Given the description of an element on the screen output the (x, y) to click on. 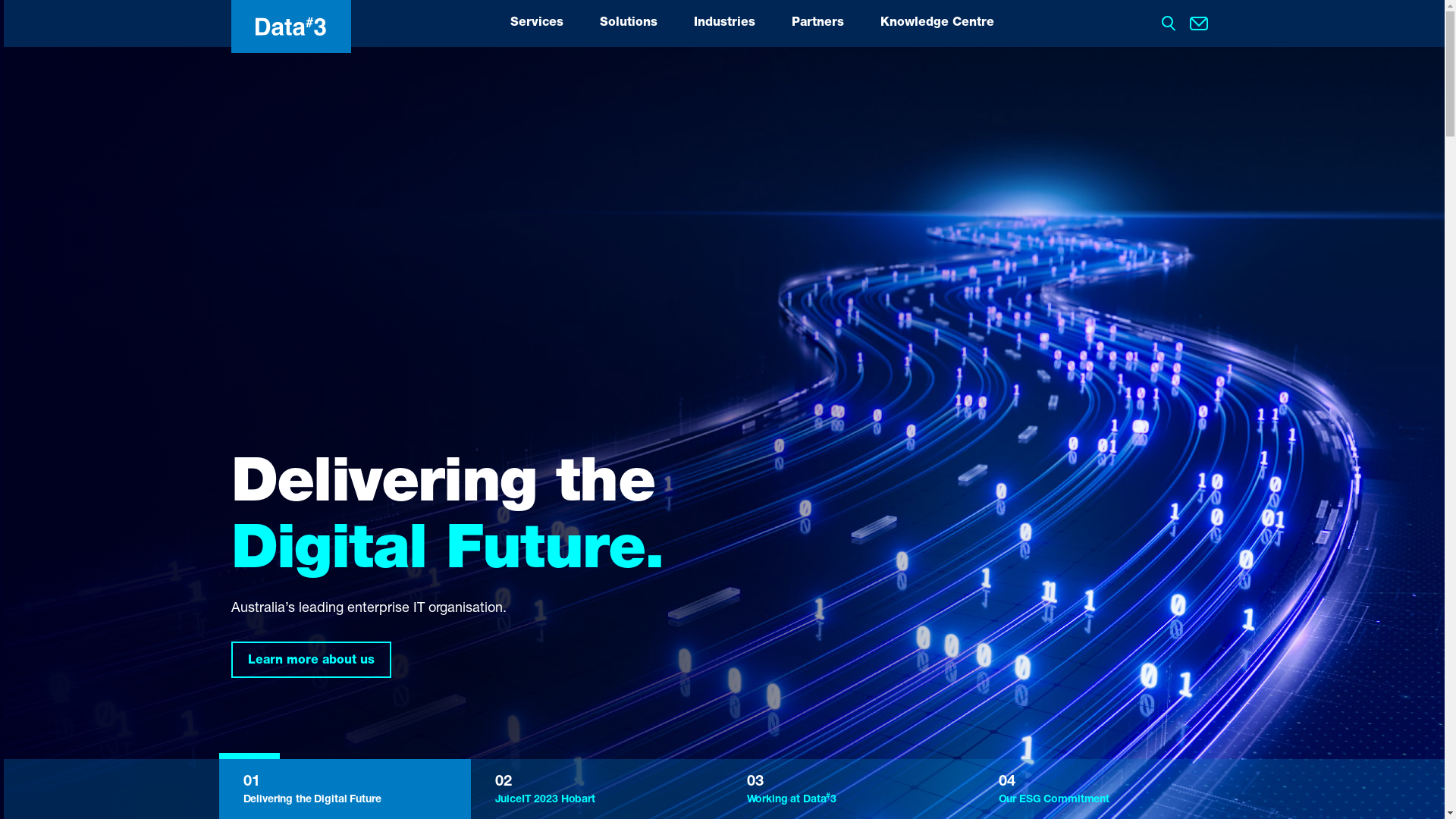
Search Element type: text (27, 10)
Services Element type: text (535, 23)
Solutions Element type: text (627, 23)
Industries Element type: text (723, 23)
Knowledge Centre Element type: text (936, 23)
Learn more about our ESG journey Element type: text (353, 659)
Partners Element type: text (817, 23)
